Given the description of an element on the screen output the (x, y) to click on. 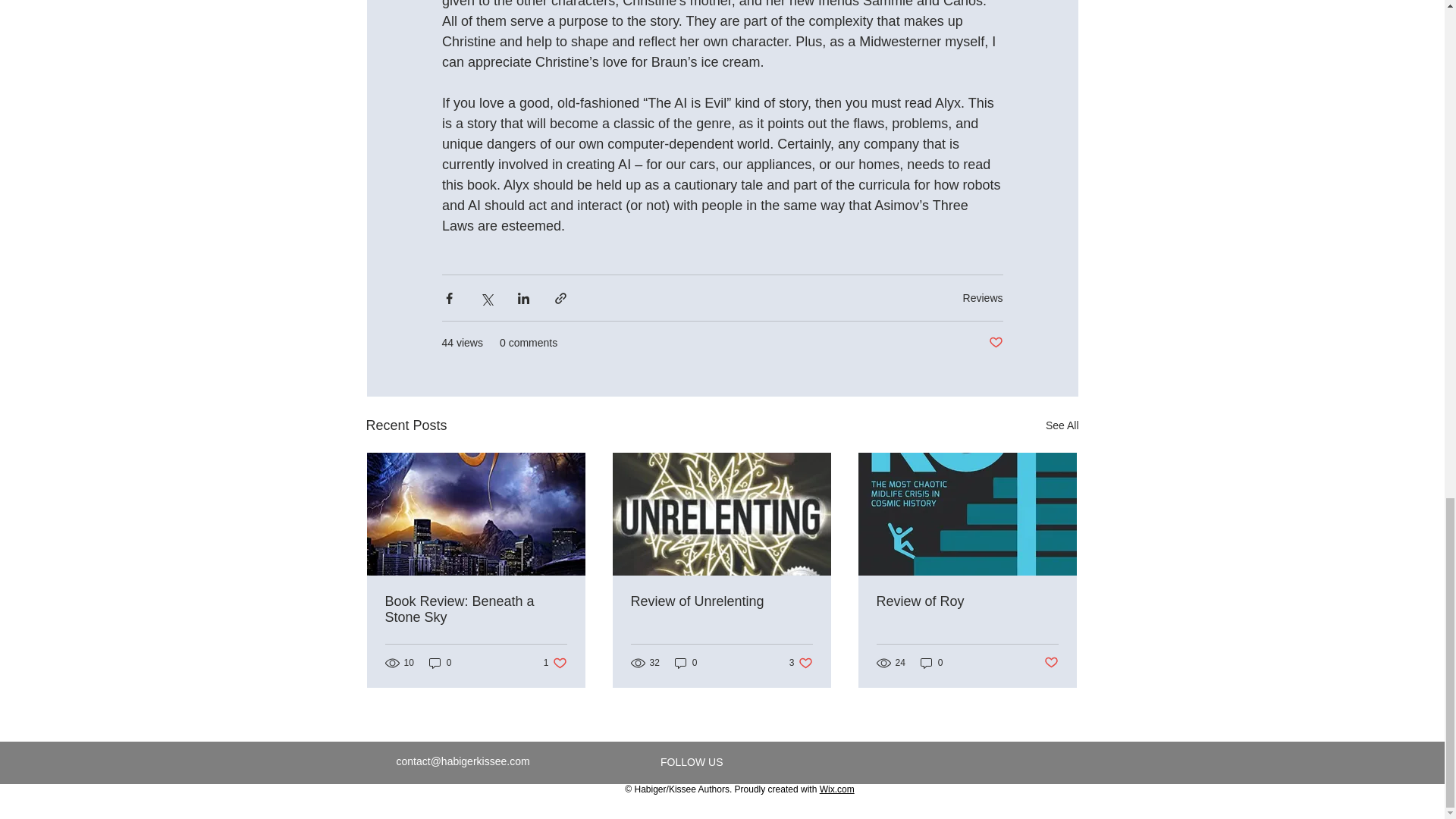
Reviews (800, 662)
0 (982, 297)
Post not marked as liked (440, 662)
Review of Roy (1050, 662)
0 (967, 601)
Book Review: Beneath a Stone Sky (685, 662)
Post not marked as liked (476, 609)
Review of Unrelenting (995, 342)
0 (721, 601)
